Given the description of an element on the screen output the (x, y) to click on. 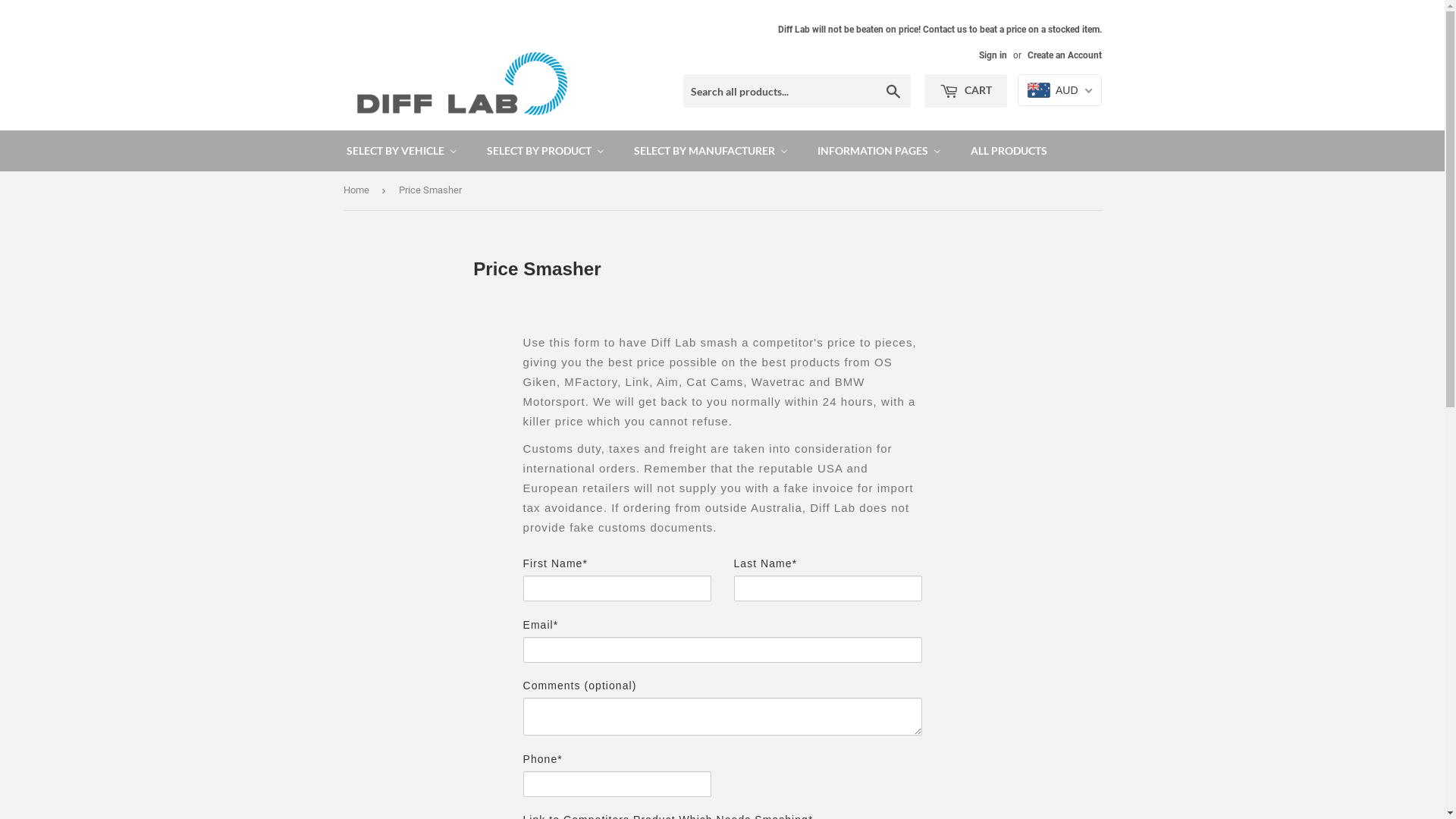
CART Element type: text (965, 90)
SELECT BY MANUFACTURER Element type: text (710, 150)
SELECT BY PRODUCT Element type: text (544, 150)
INFORMATION PAGES Element type: text (878, 150)
Home Element type: text (357, 190)
SELECT BY VEHICLE Element type: text (402, 150)
ALL PRODUCTS Element type: text (1007, 150)
Sign in Element type: text (992, 55)
Create an Account Element type: text (1063, 55)
Search Element type: text (893, 91)
